Given the description of an element on the screen output the (x, y) to click on. 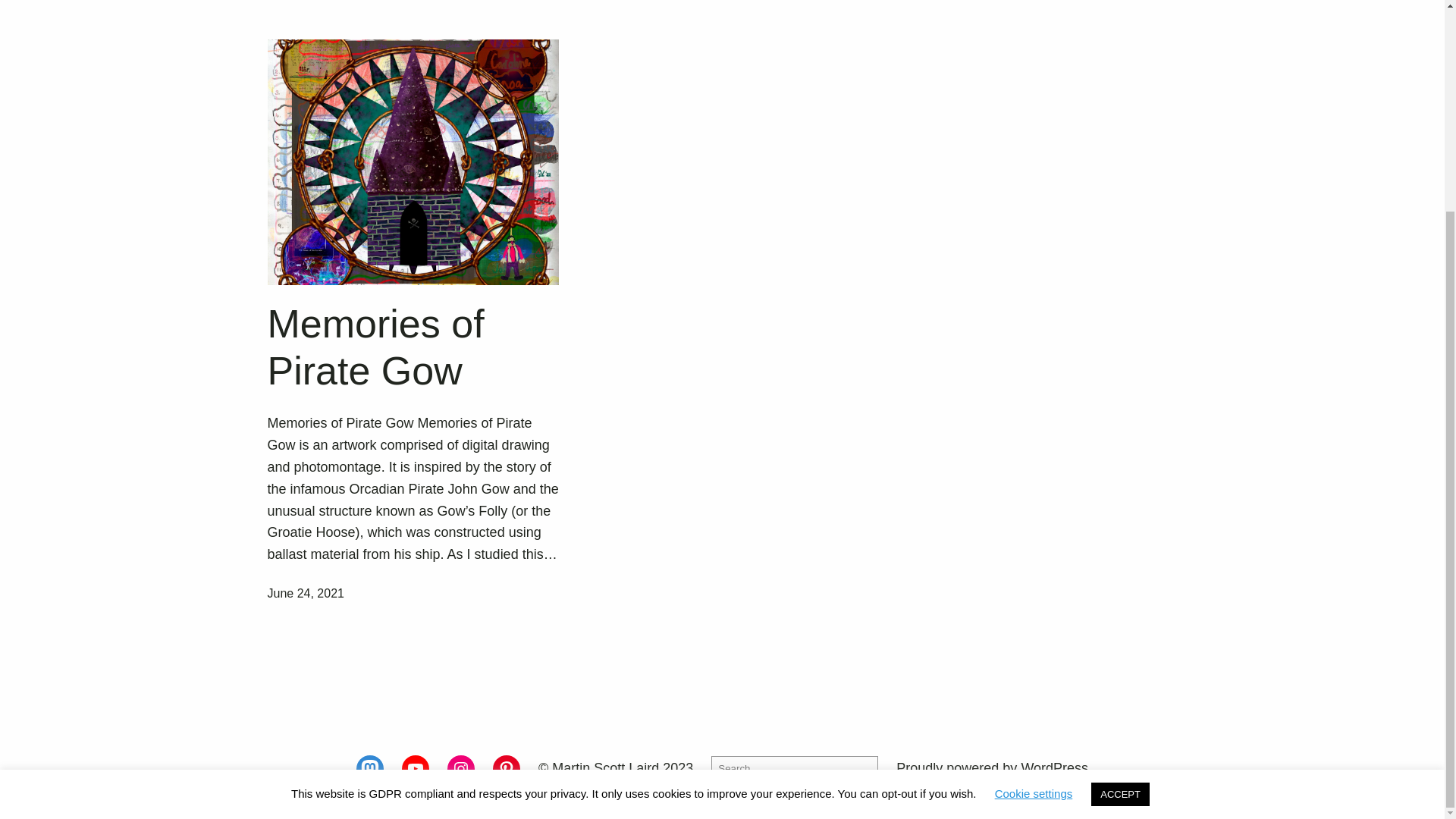
Cookie settings (1033, 517)
Mastodon (370, 768)
June 24, 2021 (304, 593)
ACCEPT (1120, 518)
Pinterest (506, 768)
Instagram (460, 768)
WordPress (1053, 767)
Memories of Pirate Gow (412, 347)
YouTube (415, 768)
